Given the description of an element on the screen output the (x, y) to click on. 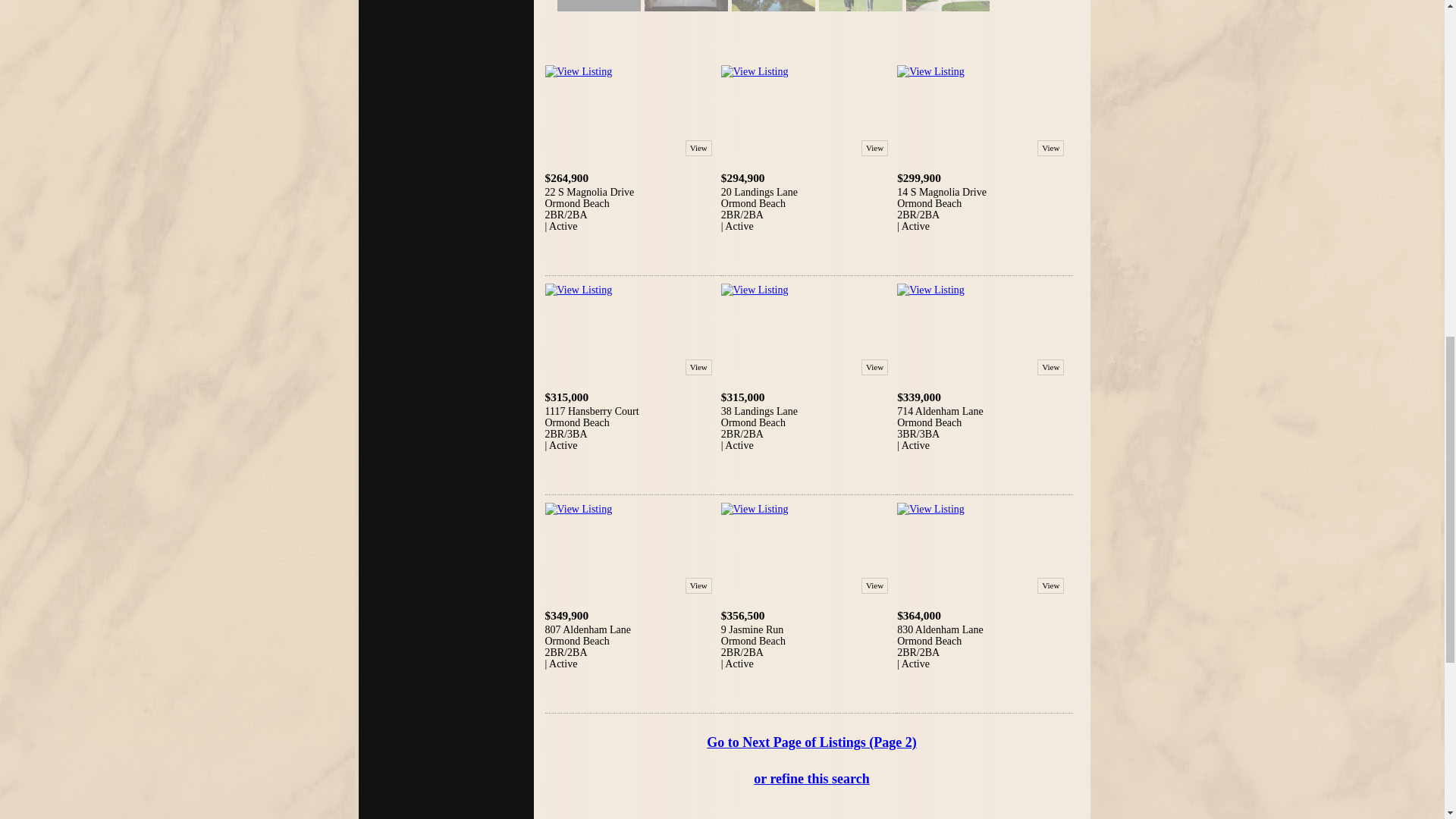
View Listing (754, 71)
View Listing (929, 71)
View Listing (754, 509)
View Listing (577, 509)
View Listing (577, 71)
View Listing (929, 289)
View Listing (577, 289)
View Listing (929, 509)
View Listing (754, 289)
